Given the description of an element on the screen output the (x, y) to click on. 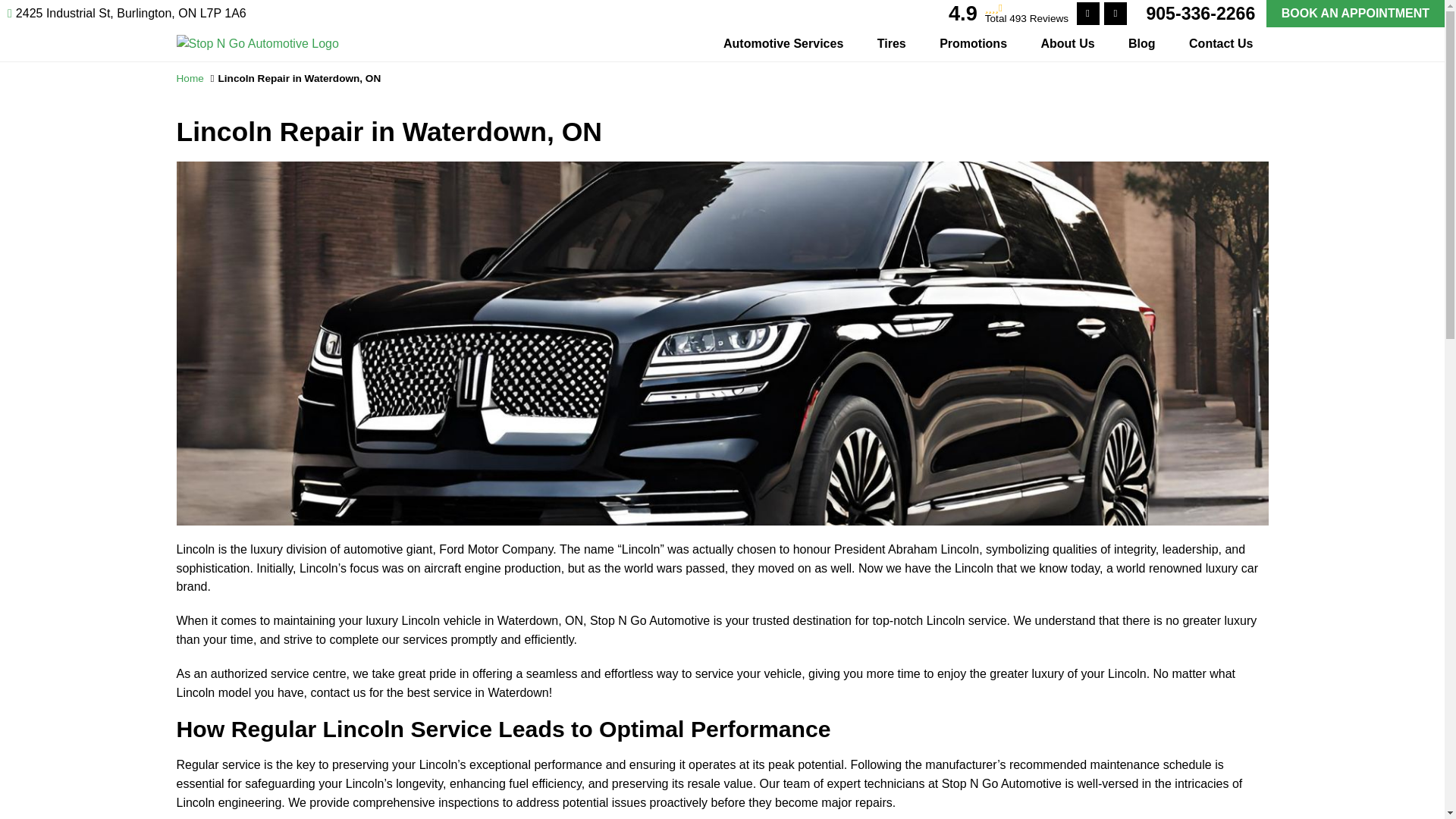
Automotive Services (783, 44)
Stop N Go Automotive (256, 42)
905-336-2266 (1200, 13)
Tires (891, 44)
Go to Stop N Go Automotive. (189, 78)
BOOK AN APPOINTMENT (1355, 13)
